Given the description of an element on the screen output the (x, y) to click on. 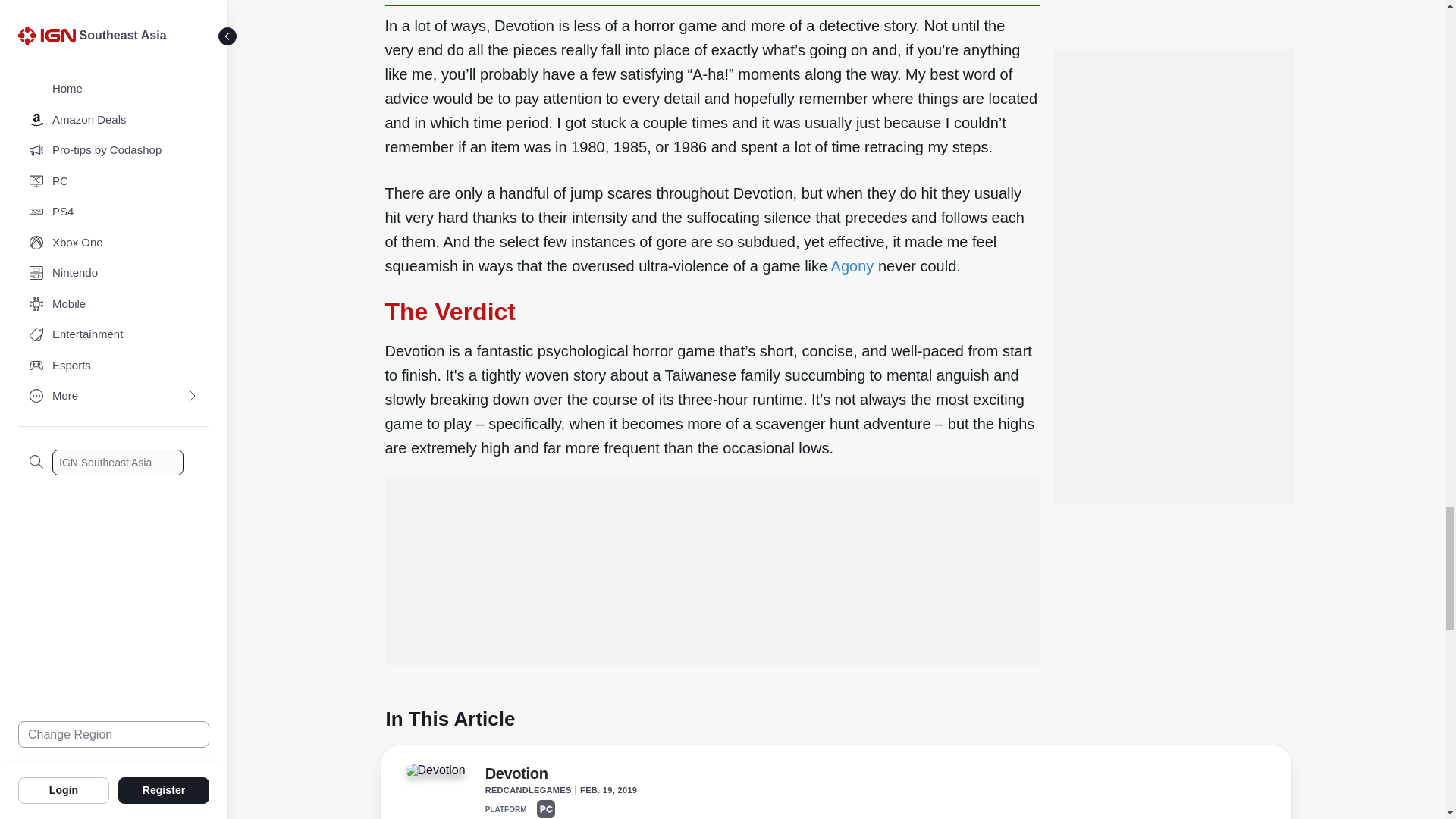
Devotion (516, 775)
Devotion (440, 775)
Devotion (434, 770)
PC (545, 809)
